Given the description of an element on the screen output the (x, y) to click on. 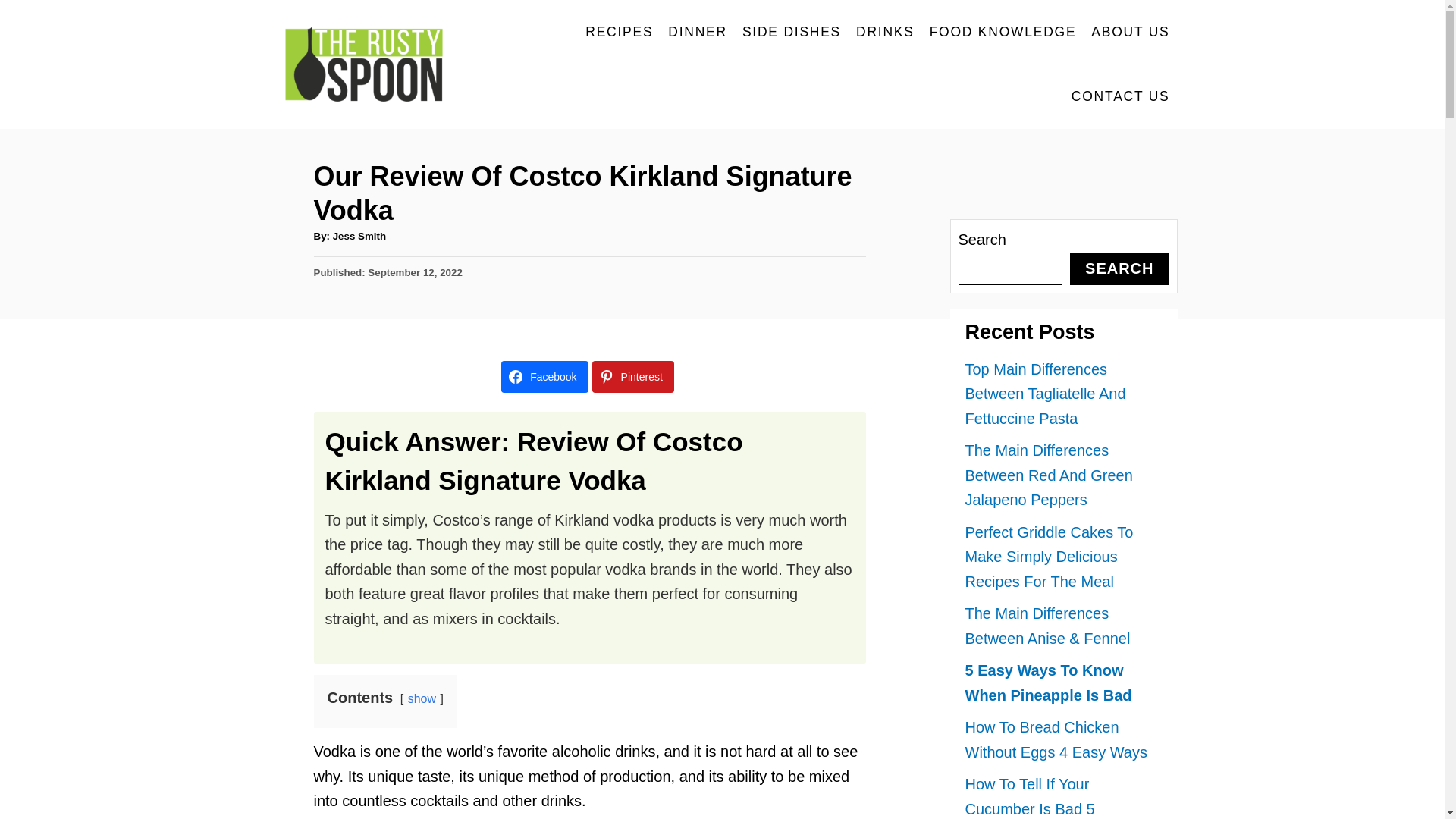
RECIPES (619, 32)
SIDE DISHES (791, 32)
FOOD KNOWLEDGE (1002, 32)
Share on Facebook (544, 377)
The Rusty Spoon (371, 64)
Share on Pinterest (633, 377)
DINNER (698, 32)
DRINKS (884, 32)
